Given the description of an element on the screen output the (x, y) to click on. 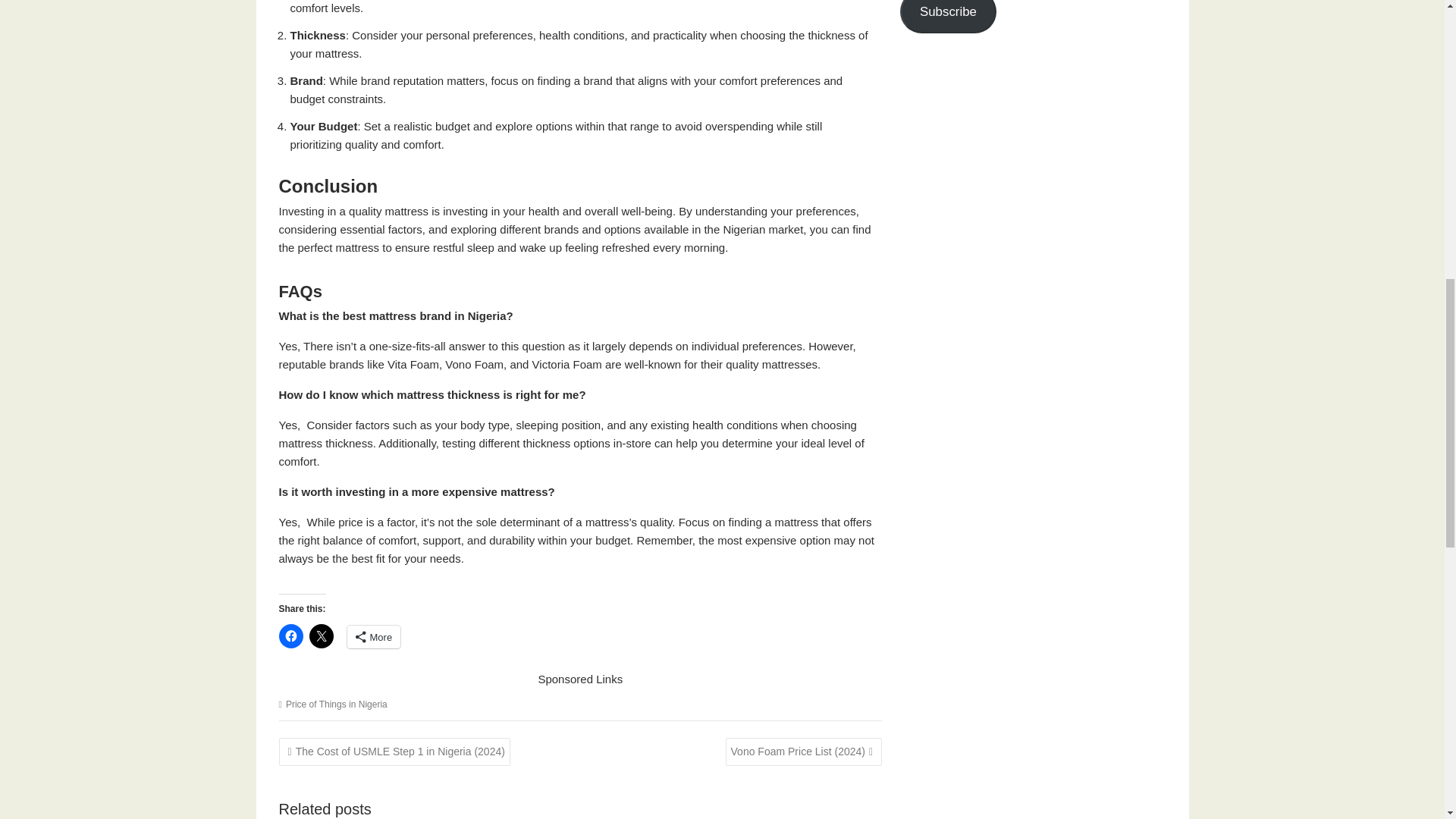
Click to share on X (320, 636)
Click to share on Facebook (290, 636)
Price of Things in Nigeria (336, 704)
More (374, 636)
